Given the description of an element on the screen output the (x, y) to click on. 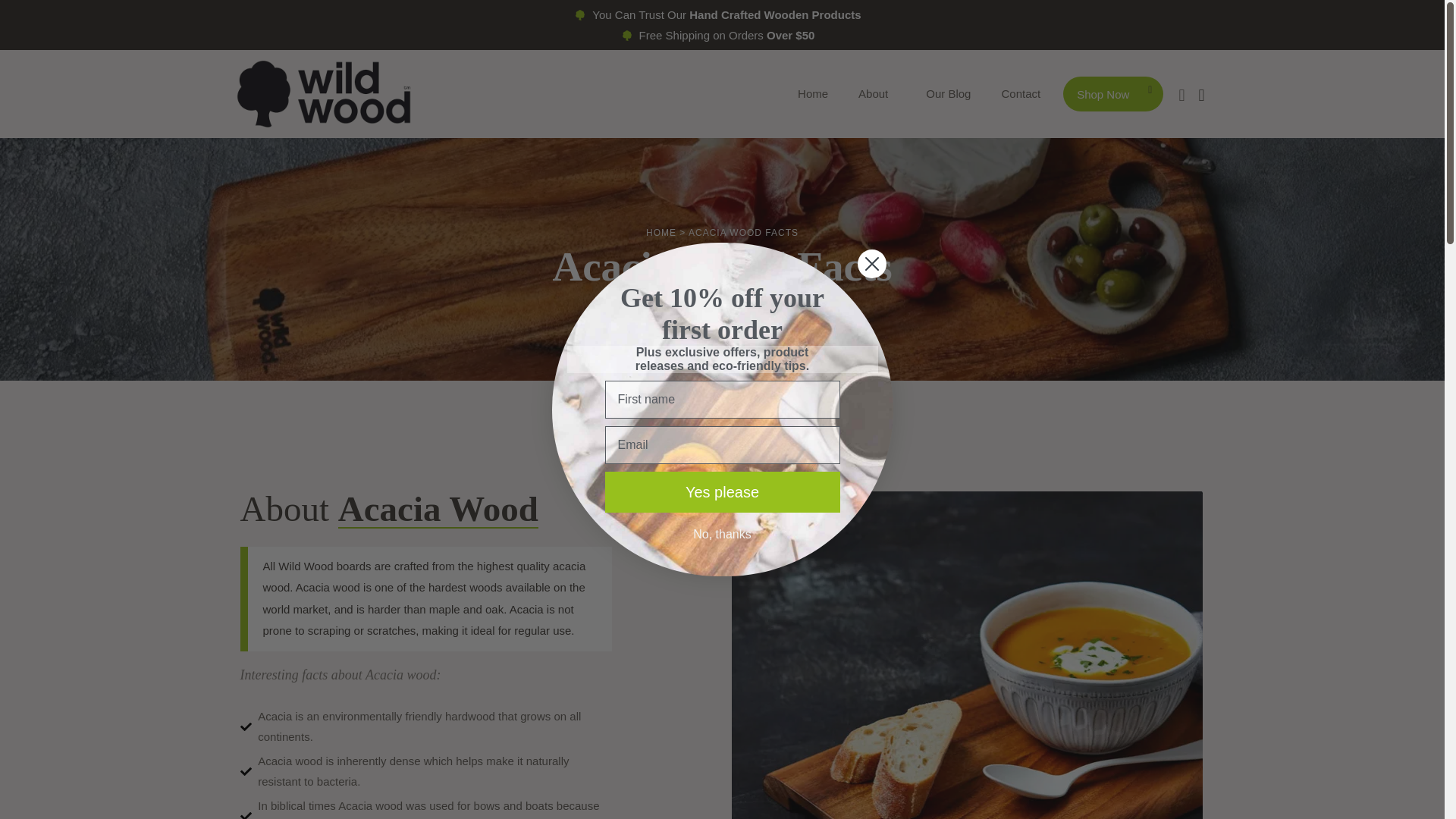
Contact (1020, 93)
Our Blog (948, 93)
HOME (661, 228)
Close dialog 1 (871, 263)
Home (813, 93)
Shop Now (1112, 93)
About (877, 93)
